Given the description of an element on the screen output the (x, y) to click on. 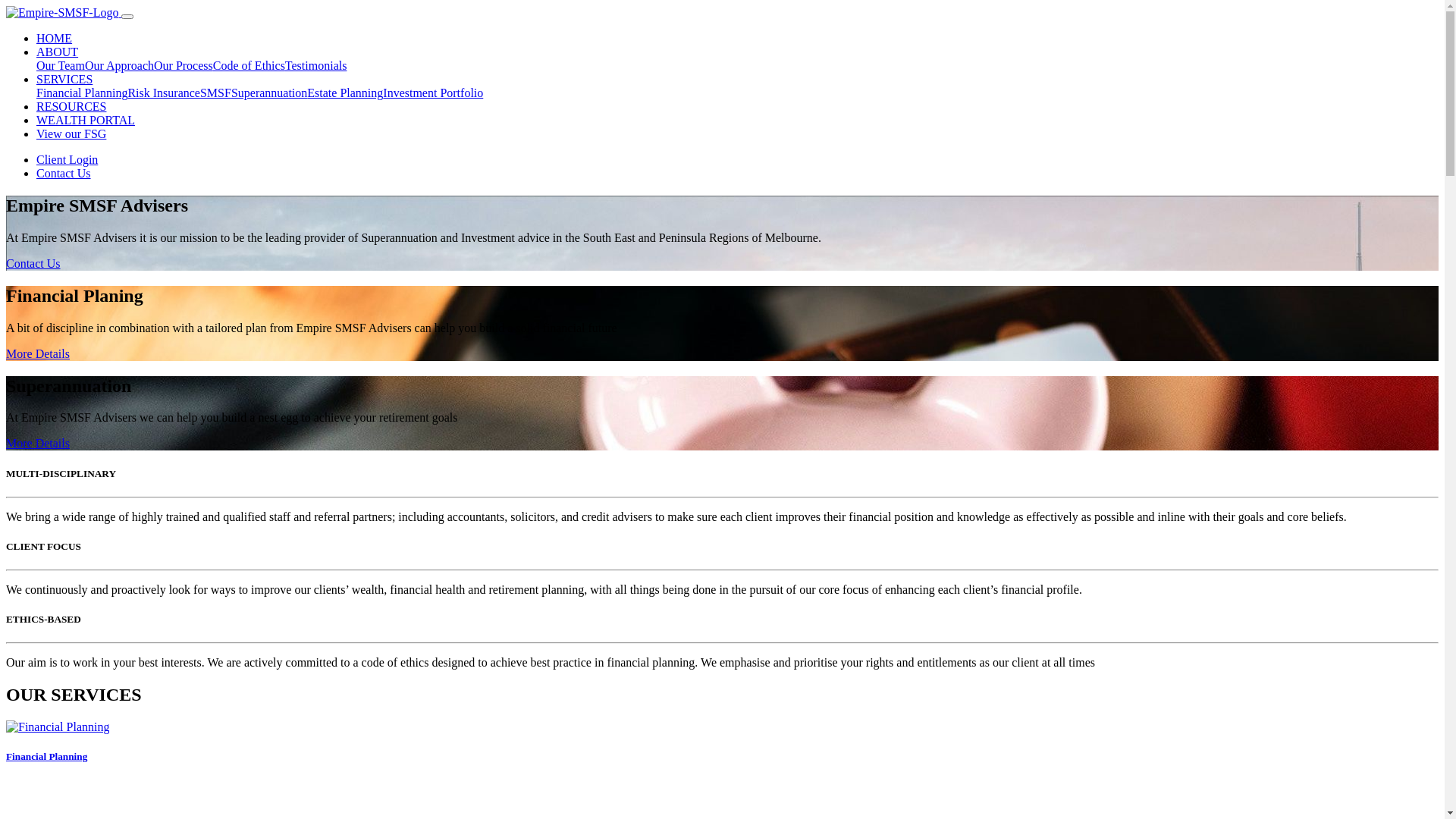
More Details Element type: text (37, 442)
Our Approach Element type: text (118, 65)
ABOUT Element type: text (57, 51)
Code of Ethics Element type: text (249, 65)
Client Login Element type: text (66, 159)
Risk Insurance Element type: text (163, 92)
View our FSG Element type: text (71, 133)
Contact Us Element type: text (33, 263)
Testimonials Element type: text (316, 65)
More Details Element type: text (37, 353)
Our Process Element type: text (183, 65)
WEALTH PORTAL Element type: text (85, 119)
Contact Us Element type: text (63, 172)
Superannuation Element type: text (269, 92)
Home Element type: hover (63, 12)
Our Team Element type: text (60, 65)
SMSF Element type: text (215, 92)
RESOURCES Element type: text (71, 106)
Investment Portfolio Element type: text (432, 92)
Estate Planning Element type: text (344, 92)
HOME Element type: text (54, 37)
Financial Planning Element type: text (722, 741)
SERVICES Element type: text (64, 78)
Financial Planning Element type: text (81, 92)
